Given the description of an element on the screen output the (x, y) to click on. 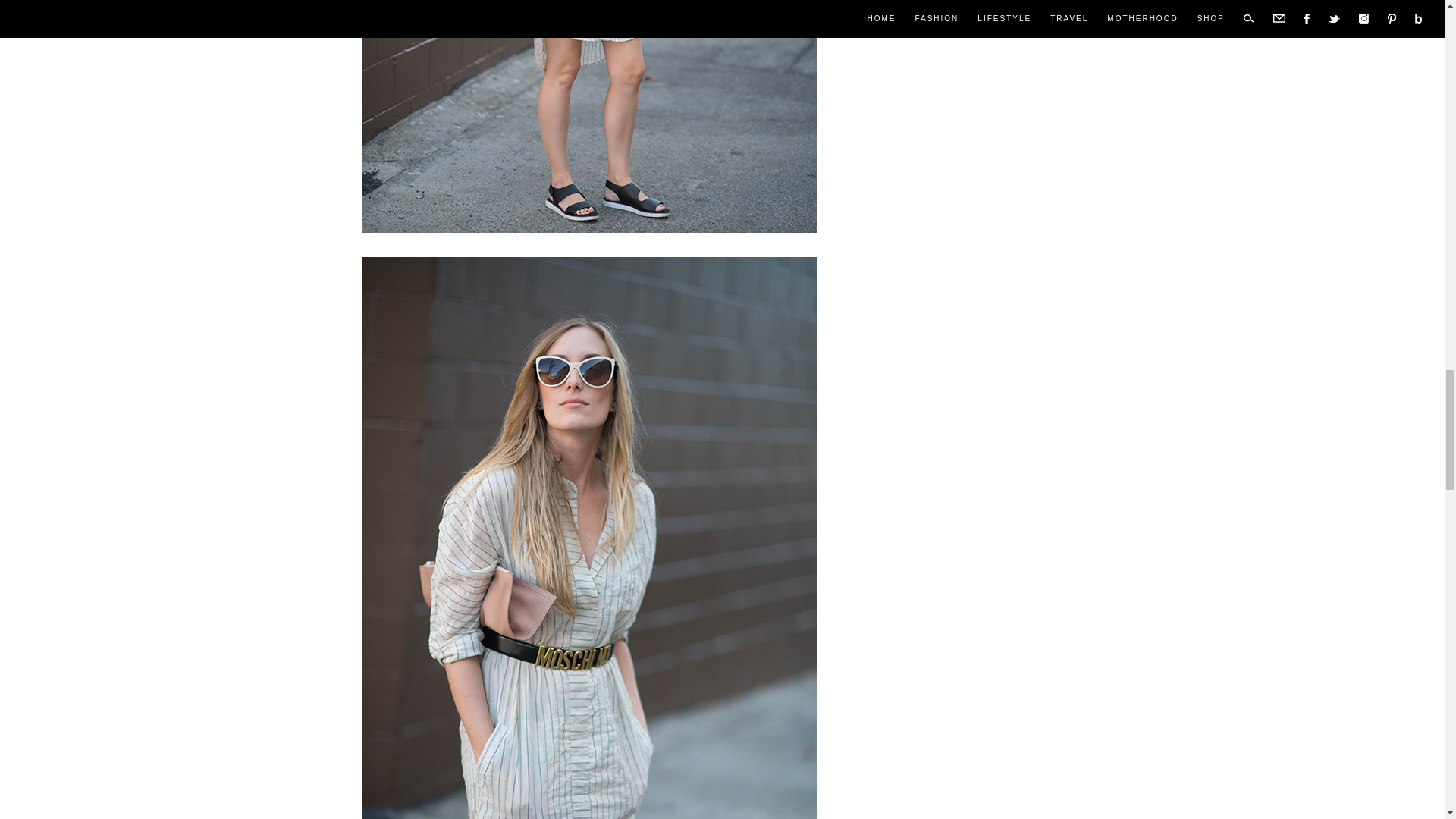
eatsleepwear, odells, givenchy, chanel, kenneth-cole, 4 (589, 116)
